Given the description of an element on the screen output the (x, y) to click on. 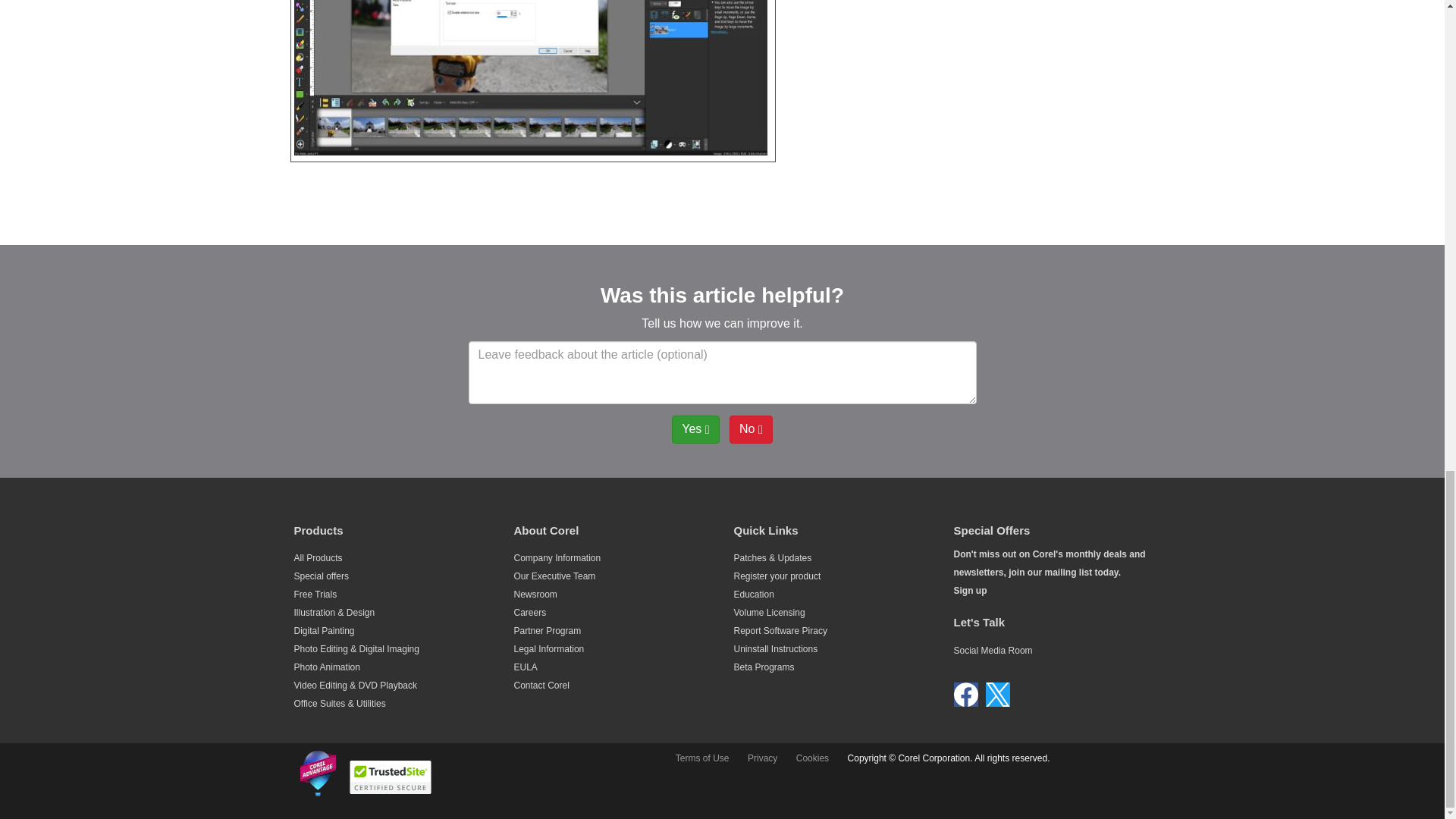
No (751, 429)
Article did not help (751, 429)
Article helped (695, 429)
Alludo Twitter (997, 694)
Alludo Facebook (965, 694)
All Products (318, 557)
View TrustedSite Certification (389, 776)
Yes (695, 429)
